Given the description of an element on the screen output the (x, y) to click on. 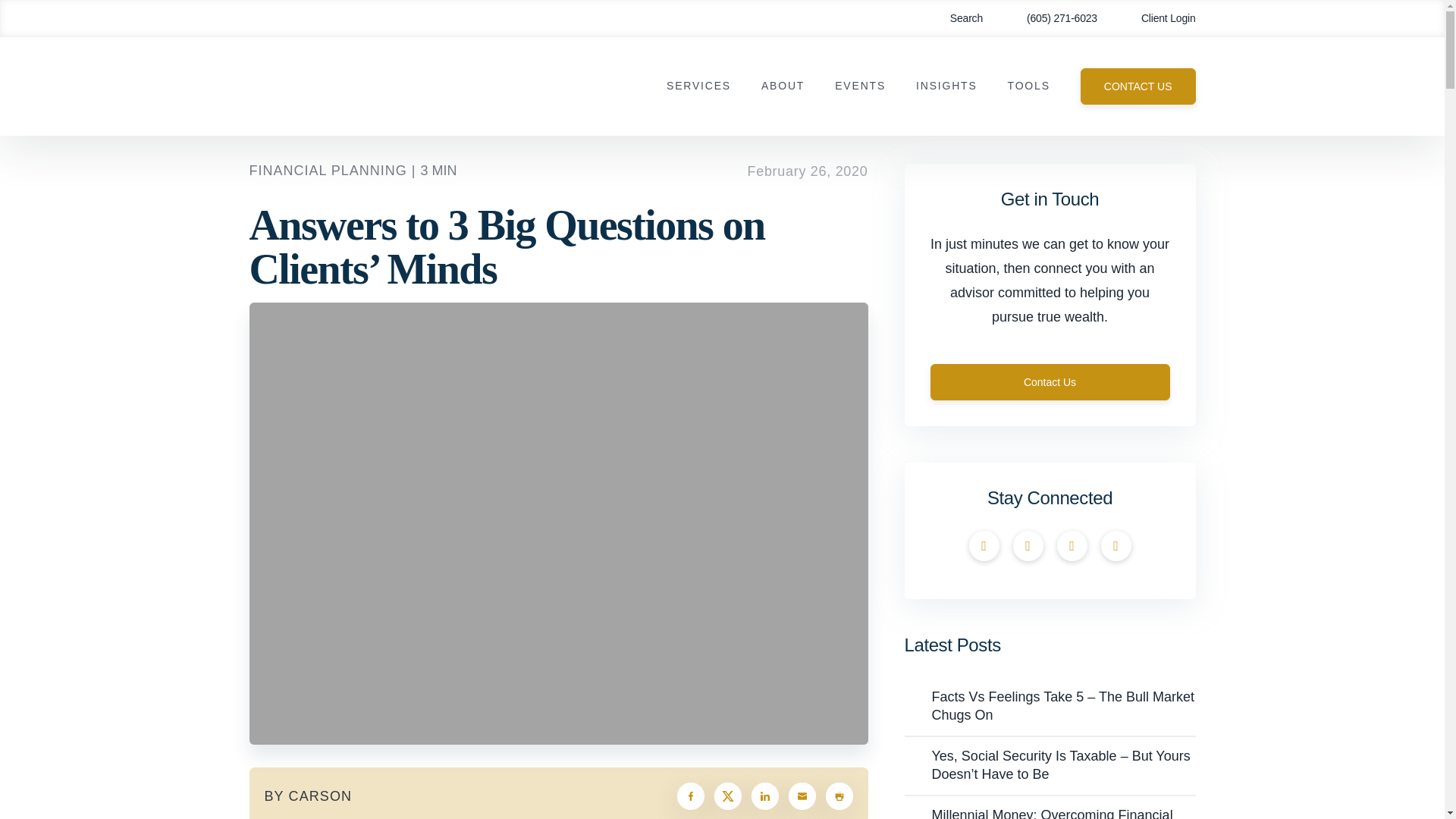
SERVICES (698, 86)
Search (955, 18)
TOOLS (1028, 86)
INSIGHTS (945, 86)
CONTACT US (1137, 85)
ABOUT (783, 86)
EVENTS (859, 86)
Client Login (1157, 18)
